Given the description of an element on the screen output the (x, y) to click on. 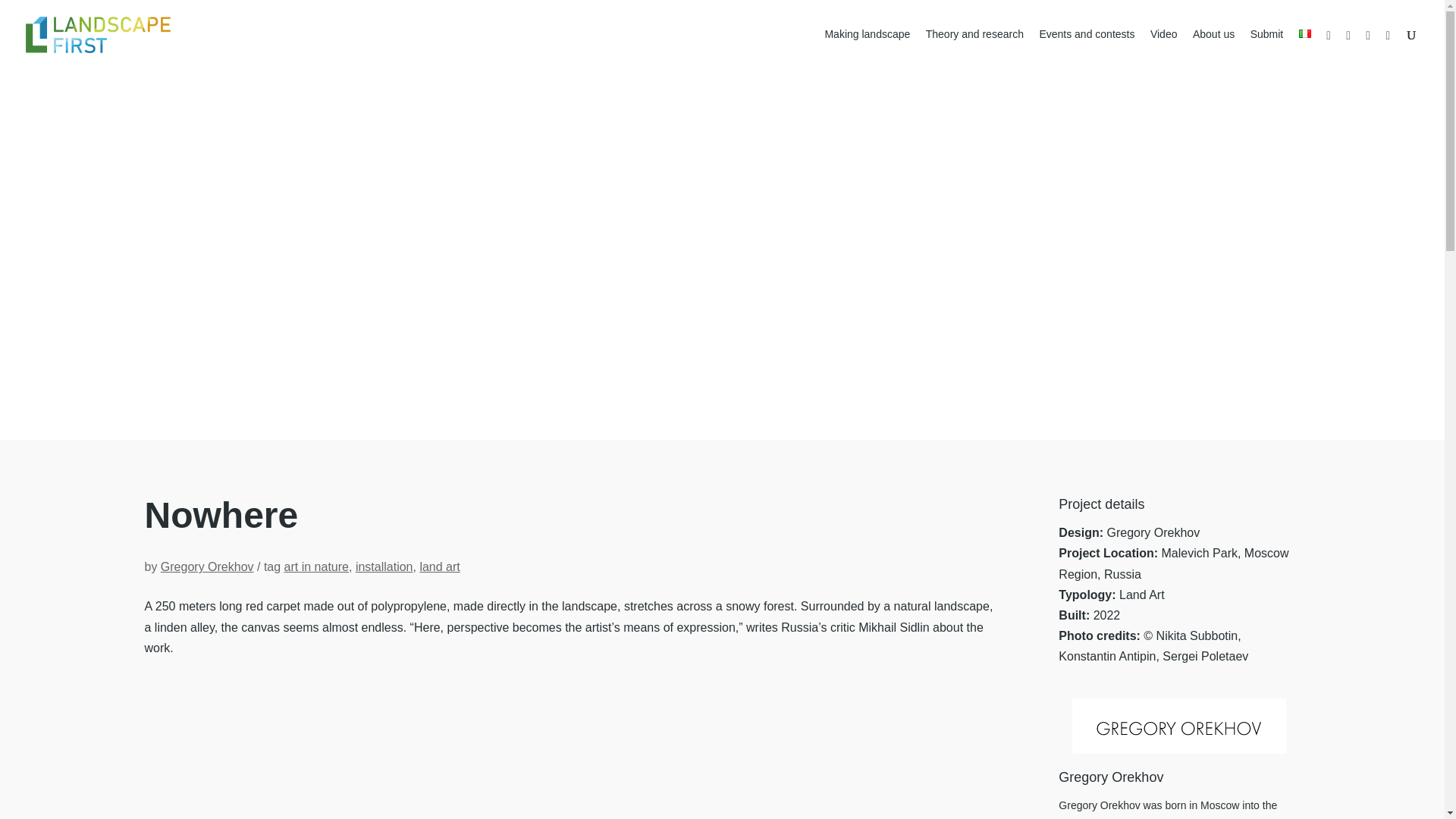
art in nature (316, 566)
Making landscape (867, 47)
Theory and research (974, 47)
Events and contests (1086, 47)
About us (1213, 47)
Gregory Orekhov (206, 566)
installation (384, 566)
land art (439, 566)
Posts by Gregory Orekhov (206, 566)
